Given the description of an element on the screen output the (x, y) to click on. 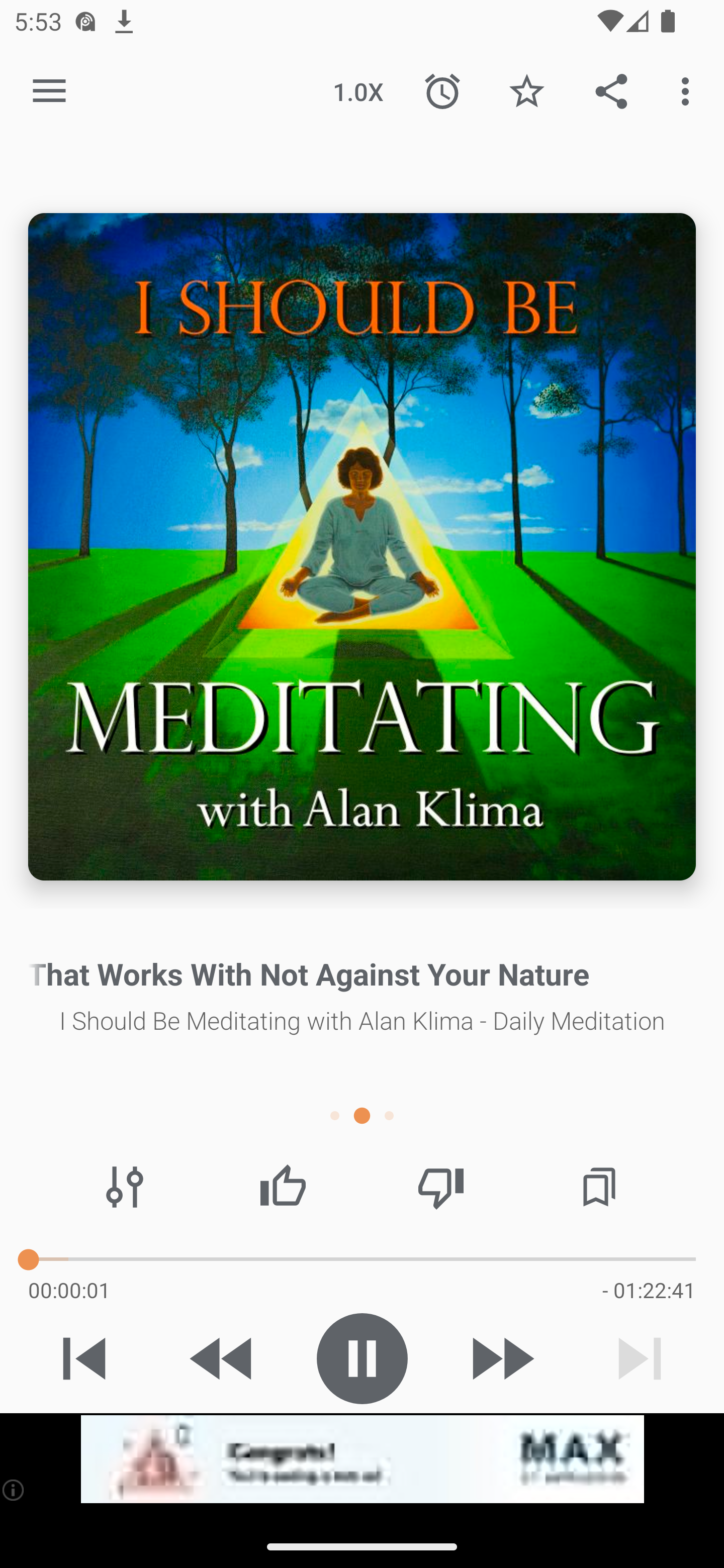
Open navigation sidebar (49, 91)
1.0X (357, 90)
Sleep Timer (442, 90)
Favorite (526, 90)
Share (611, 90)
More options (688, 90)
Episode description (361, 547)
Audio effects (124, 1186)
Thumbs up (283, 1186)
Thumbs down (440, 1186)
Chapters / Bookmarks (598, 1186)
- 01:22:41 (648, 1289)
Previous track (84, 1358)
Skip 15s backward (222, 1358)
Play / Pause (362, 1358)
Skip 30s forward (500, 1358)
Next track (639, 1358)
app-monetization (362, 1459)
(i) (14, 1489)
